Given the description of an element on the screen output the (x, y) to click on. 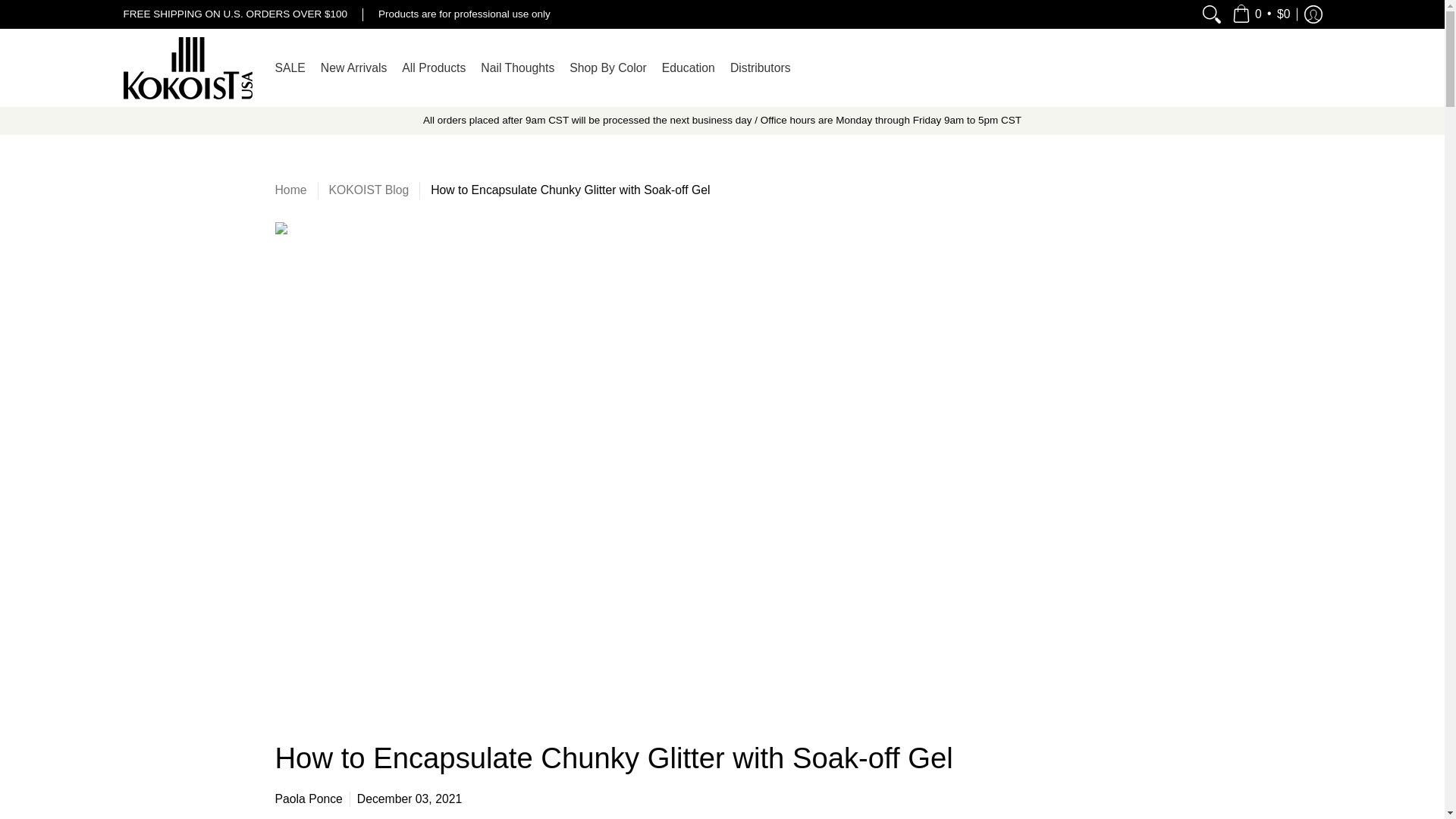
New Arrivals (353, 68)
Cart (1261, 14)
New Arrivals (353, 68)
Search (1211, 14)
Log in (1312, 14)
All Products (433, 68)
KOKOIST USA (186, 68)
All Products (433, 68)
